Given the description of an element on the screen output the (x, y) to click on. 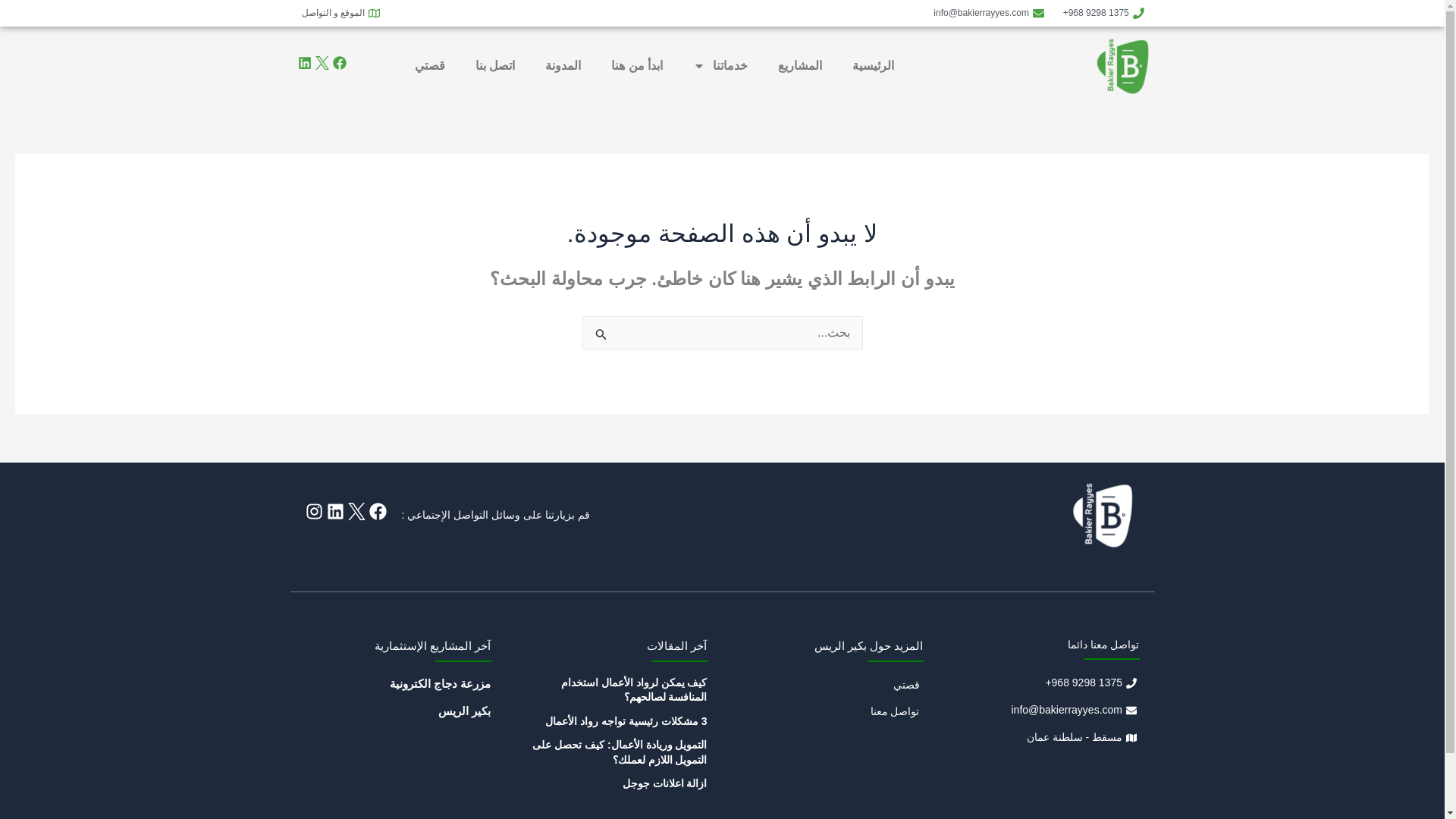
Linkedin (334, 511)
Facebook (338, 62)
Linkedin (304, 62)
Facebook (376, 511)
Instagram (312, 511)
